Given the description of an element on the screen output the (x, y) to click on. 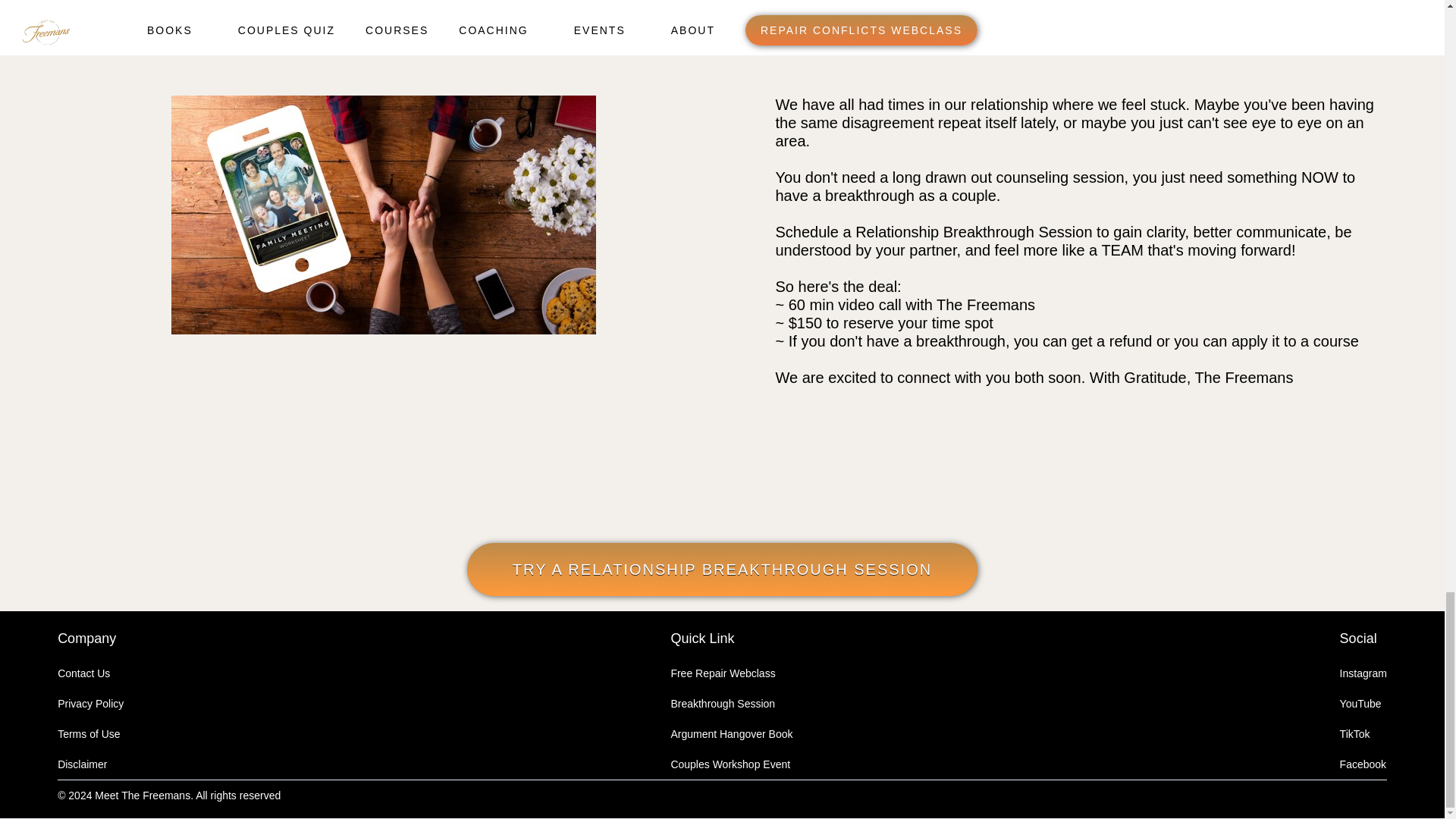
Privacy Policy (90, 703)
Argument Hangover Book (730, 734)
Contact Us (84, 672)
Terms of Use (88, 734)
Disclaimer (82, 764)
TRY A RELATIONSHIP BREAKTHROUGH SESSION (721, 569)
Free Repair Webclass (721, 672)
Breakthrough Session (721, 703)
